Given the description of an element on the screen output the (x, y) to click on. 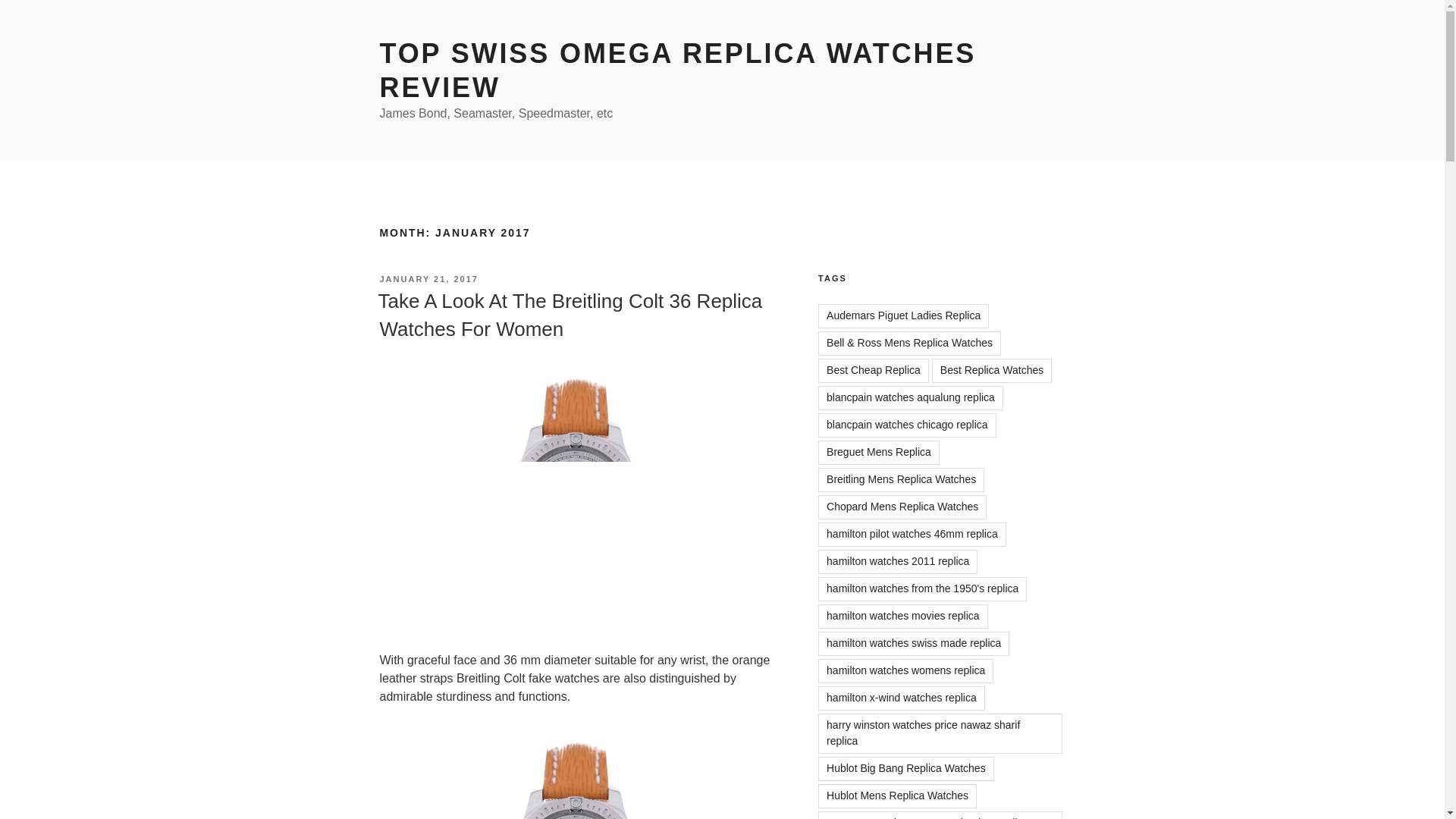
Breitling Mens Replica Watches (901, 479)
Chopard Mens Replica Watches (902, 507)
JANUARY 21, 2017 (427, 278)
blancpain watches aqualung replica (910, 397)
hamilton pilot watches 46mm replica (912, 534)
Audemars Piguet Ladies Replica (903, 315)
Best Replica Watches (991, 370)
blancpain watches chicago replica (906, 425)
Breguet Mens Replica (878, 452)
